Given the description of an element on the screen output the (x, y) to click on. 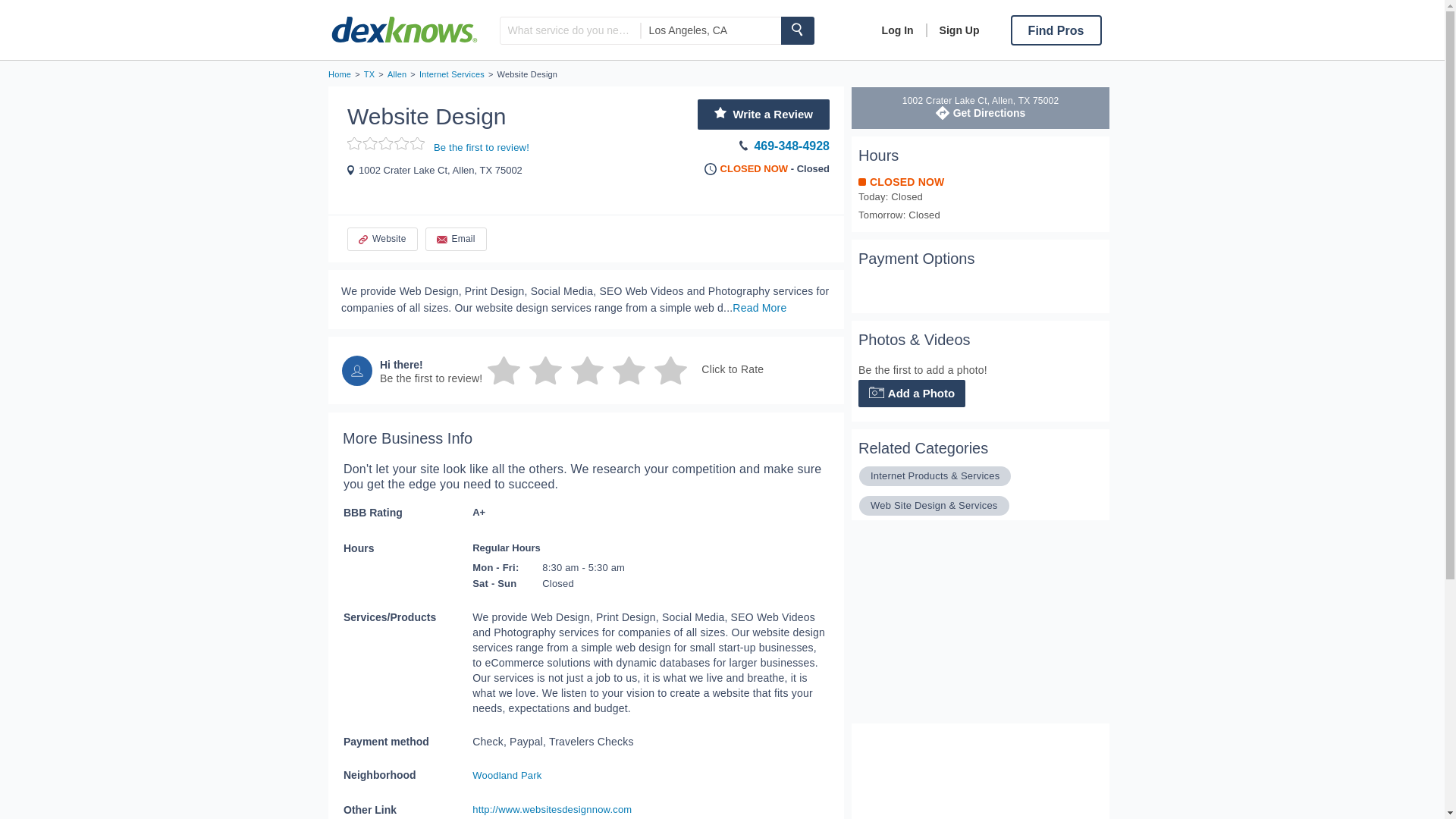
TX (369, 73)
469-348-4928 (740, 145)
Los Angeles, CA (711, 30)
Write a Review (763, 114)
Allen (980, 107)
Be the first to review! (396, 73)
CHECK (481, 146)
Woodland Park (880, 291)
Internet Services (506, 775)
Log In (451, 73)
Find (898, 30)
3rd party ad content (796, 30)
Sign Up (964, 628)
Home (952, 30)
